Given the description of an element on the screen output the (x, y) to click on. 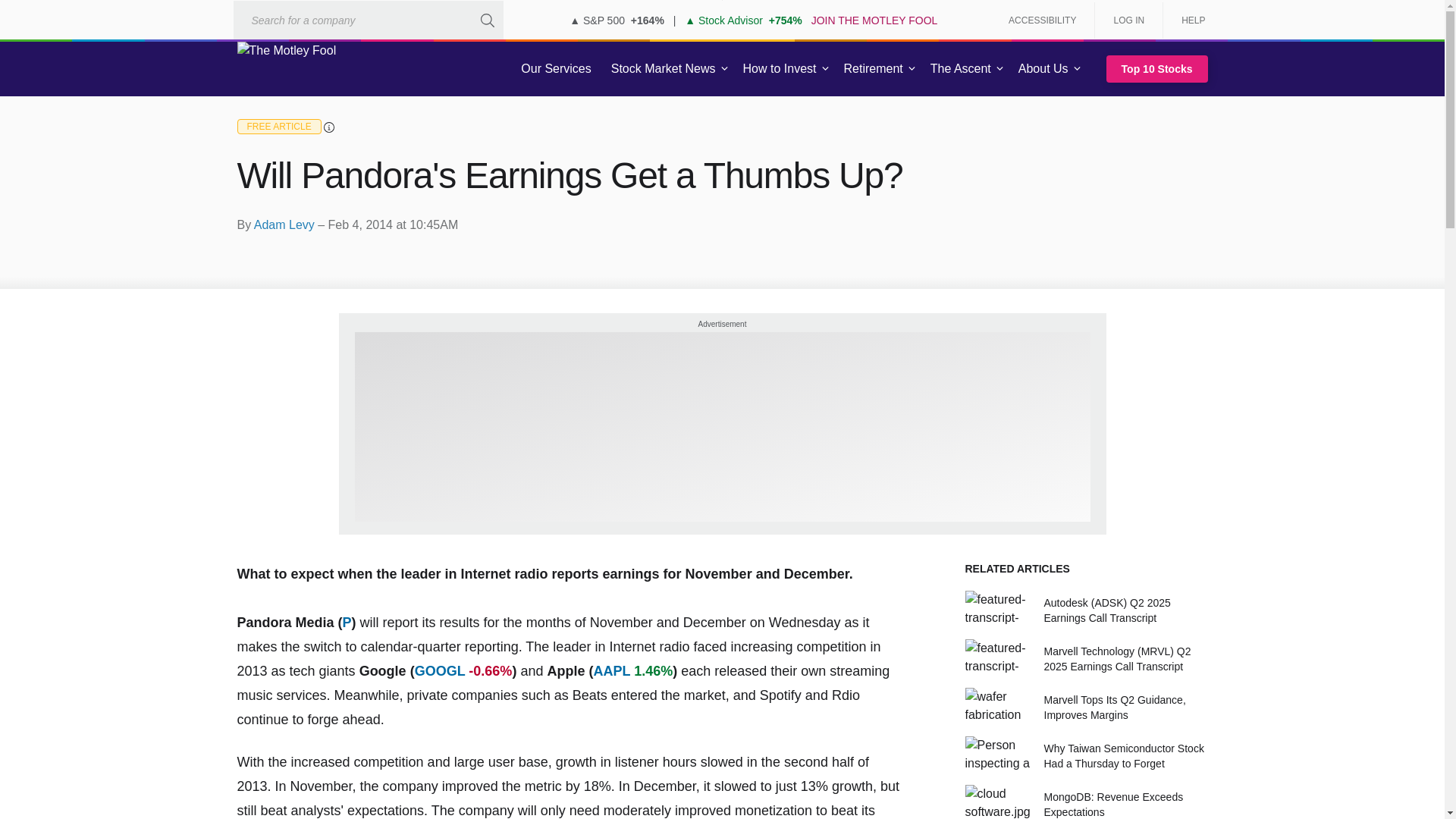
How to Invest (779, 68)
Stock Market News (662, 68)
LOG IN (1128, 19)
HELP (1187, 19)
ACCESSIBILITY (1042, 19)
Our Services (555, 68)
